Given the description of an element on the screen output the (x, y) to click on. 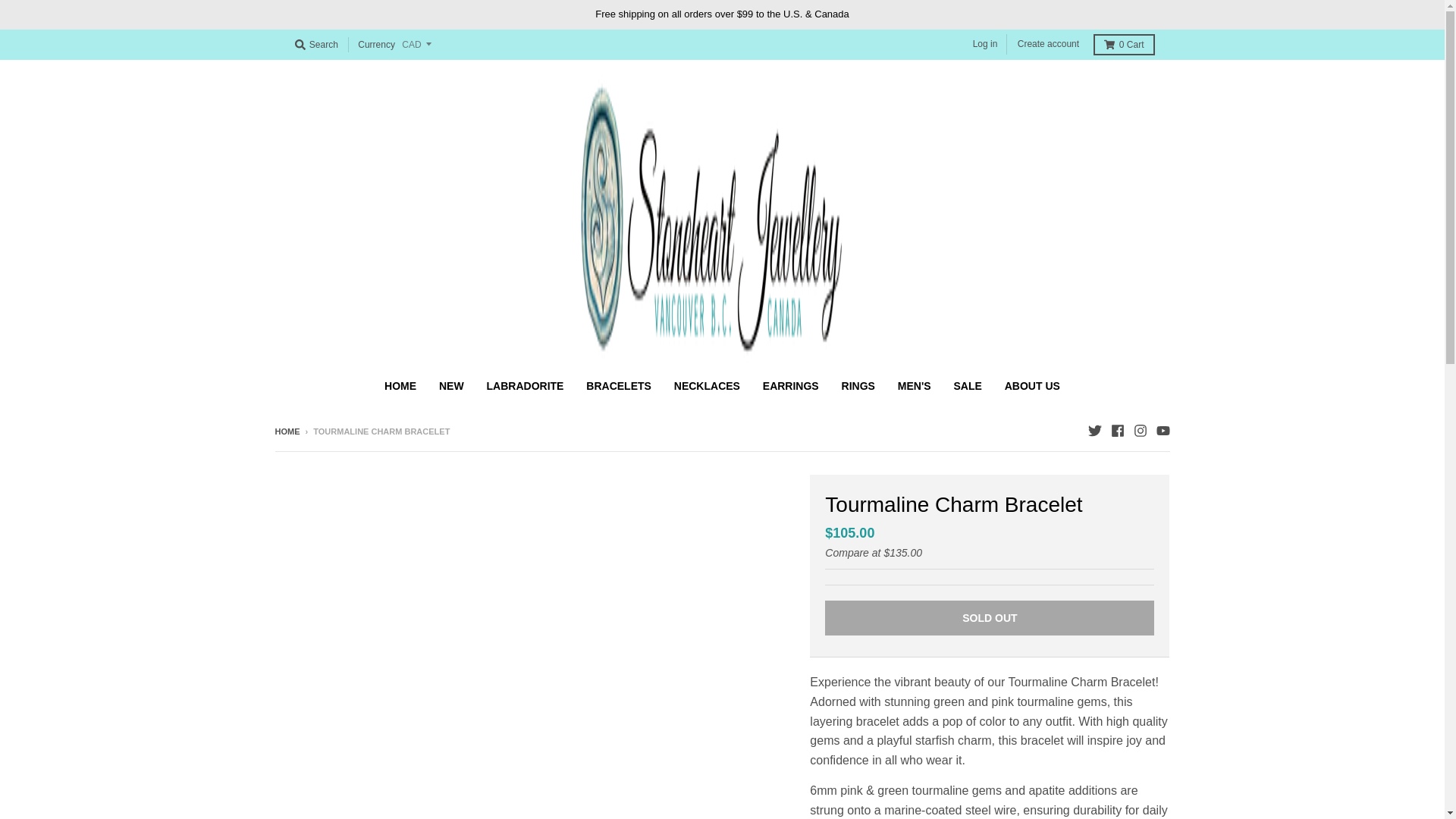
HOME (400, 385)
MEN'S (914, 385)
Back to the frontpage (287, 430)
NEW (451, 385)
RINGS (858, 385)
ABOUT US (1032, 385)
YouTube - Stoneheart Jewellery (1162, 430)
Instagram - Stoneheart Jewellery (1139, 430)
Twitter - Stoneheart Jewellery (1093, 430)
Facebook - Stoneheart Jewellery (1116, 430)
EARRINGS (790, 385)
SALE (967, 385)
Log in (985, 44)
Search (315, 44)
NECKLACES (706, 385)
